Given the description of an element on the screen output the (x, y) to click on. 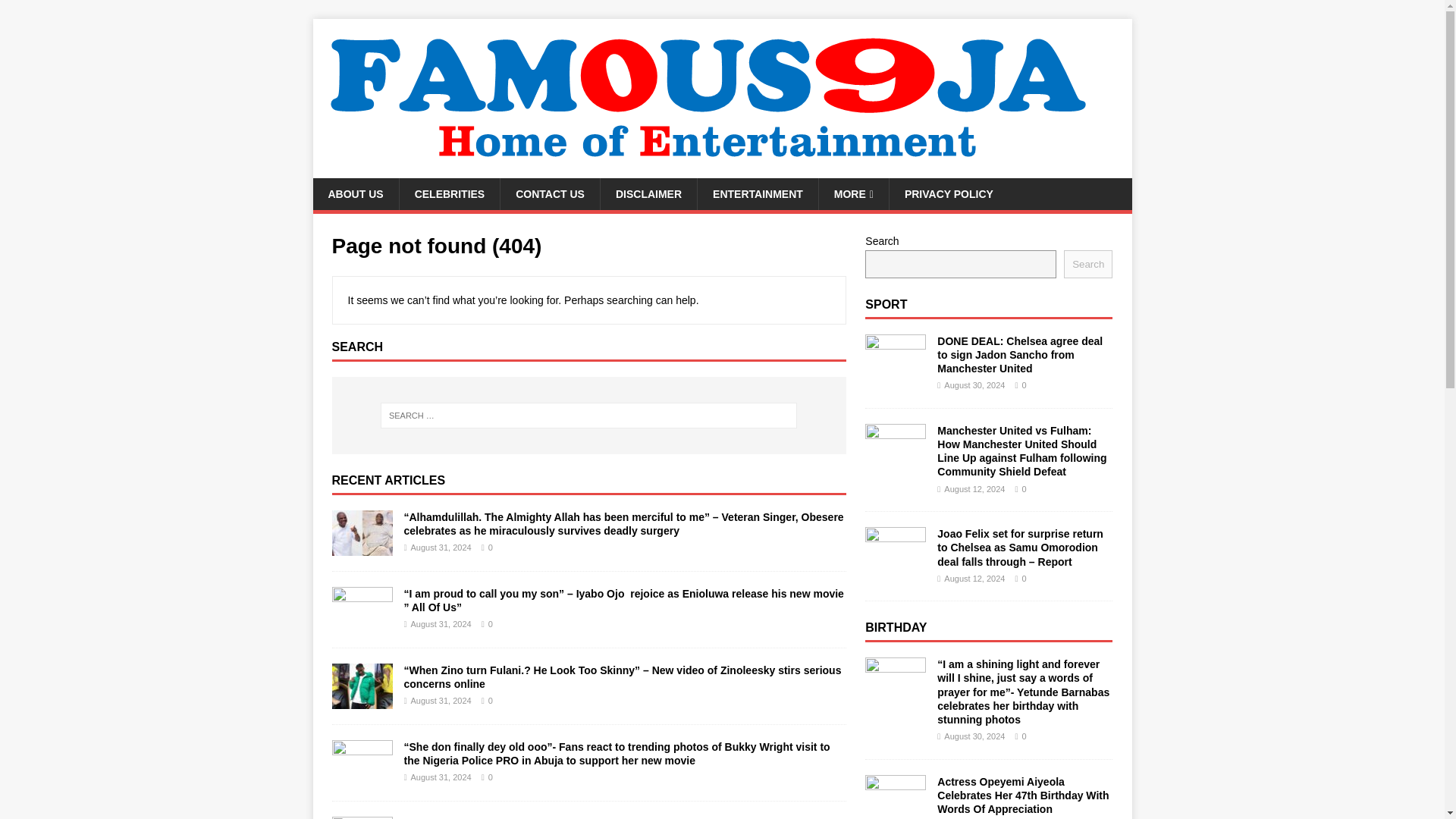
DISCLAIMER (648, 193)
Search (1088, 264)
MORE (853, 193)
ENTERTAINMENT (757, 193)
ABOUT US (355, 193)
